Given the description of an element on the screen output the (x, y) to click on. 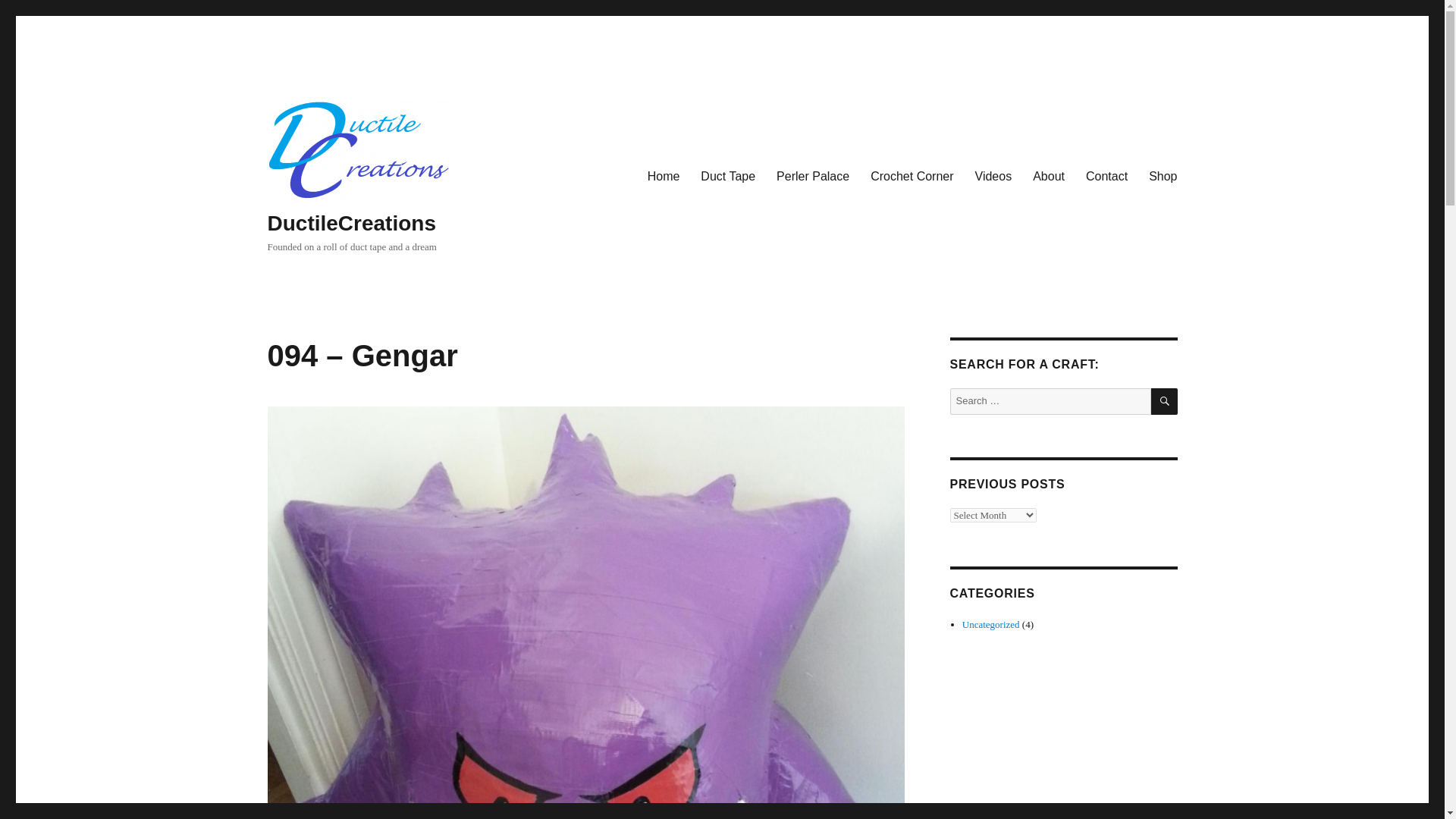
Home (663, 176)
Shop (1163, 176)
Contact (1106, 176)
Contact (1106, 176)
Duct Tape (727, 176)
SEARCH (1164, 401)
Duct Tape (727, 176)
Videos (993, 176)
Videos (993, 176)
About (1048, 176)
